Given the description of an element on the screen output the (x, y) to click on. 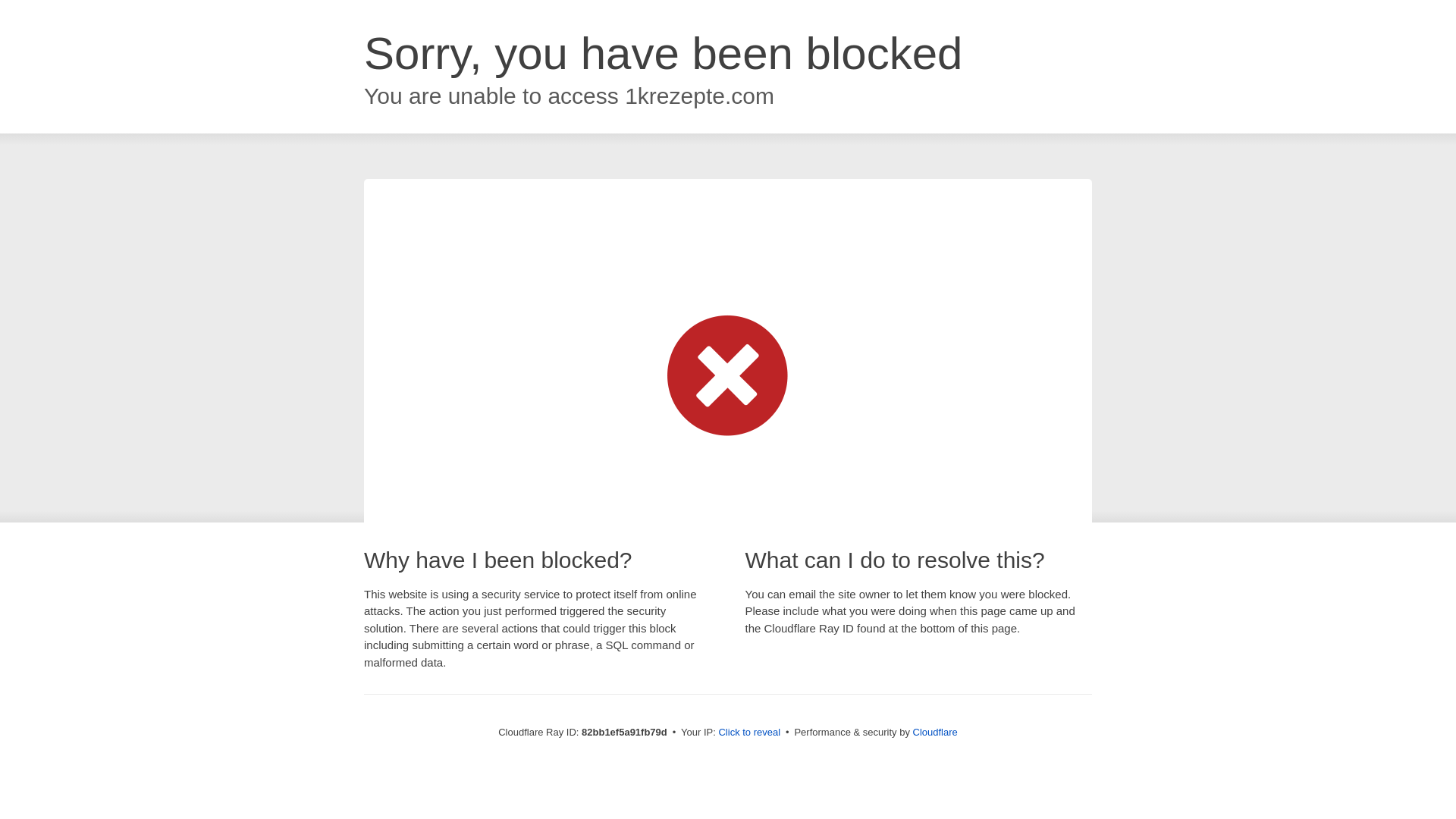
Cloudflare Element type: text (935, 731)
Click to reveal Element type: text (749, 732)
